Given the description of an element on the screen output the (x, y) to click on. 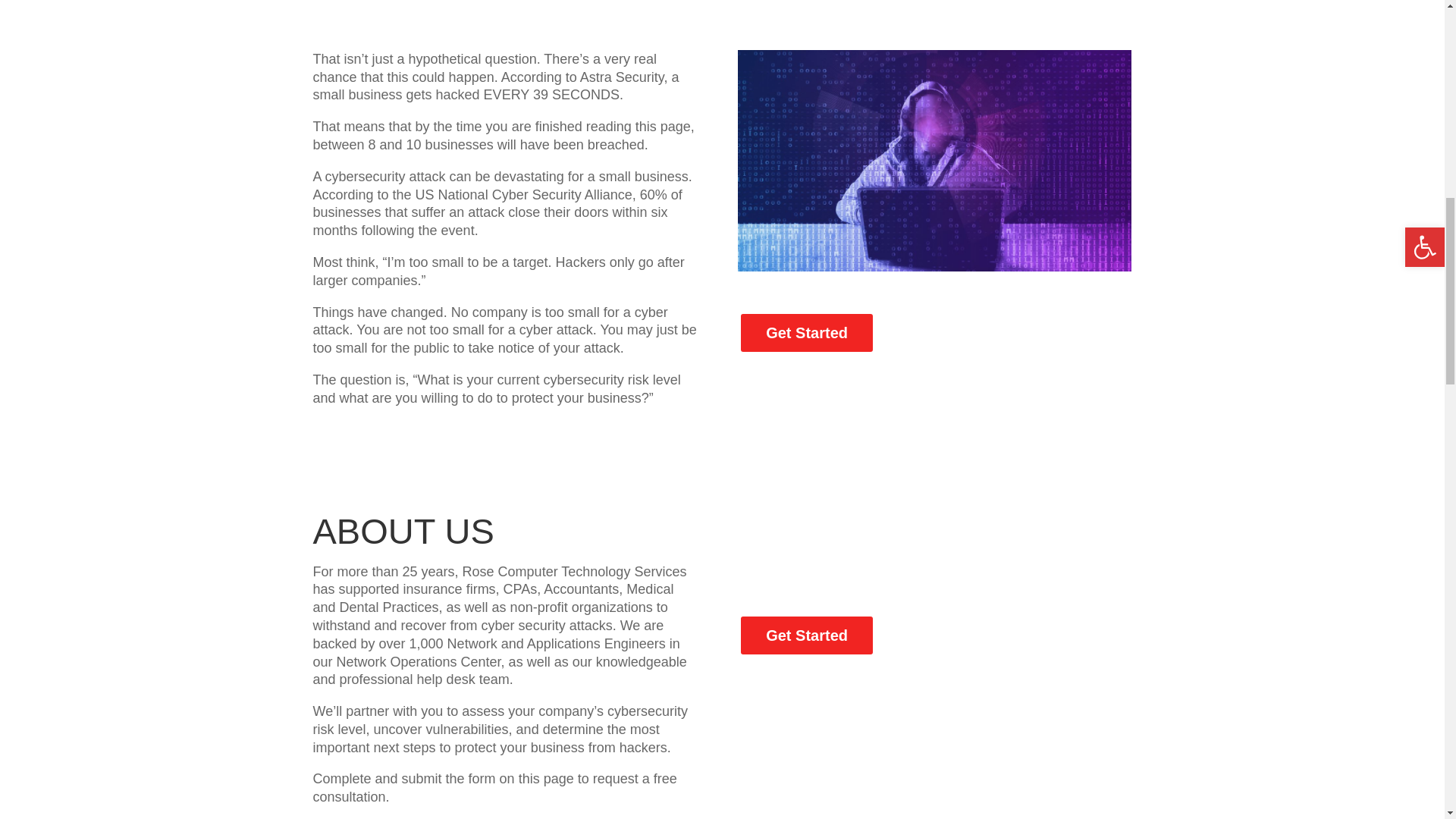
5-common-cyber-attacks-to-protect-agains (934, 160)
